Given the description of an element on the screen output the (x, y) to click on. 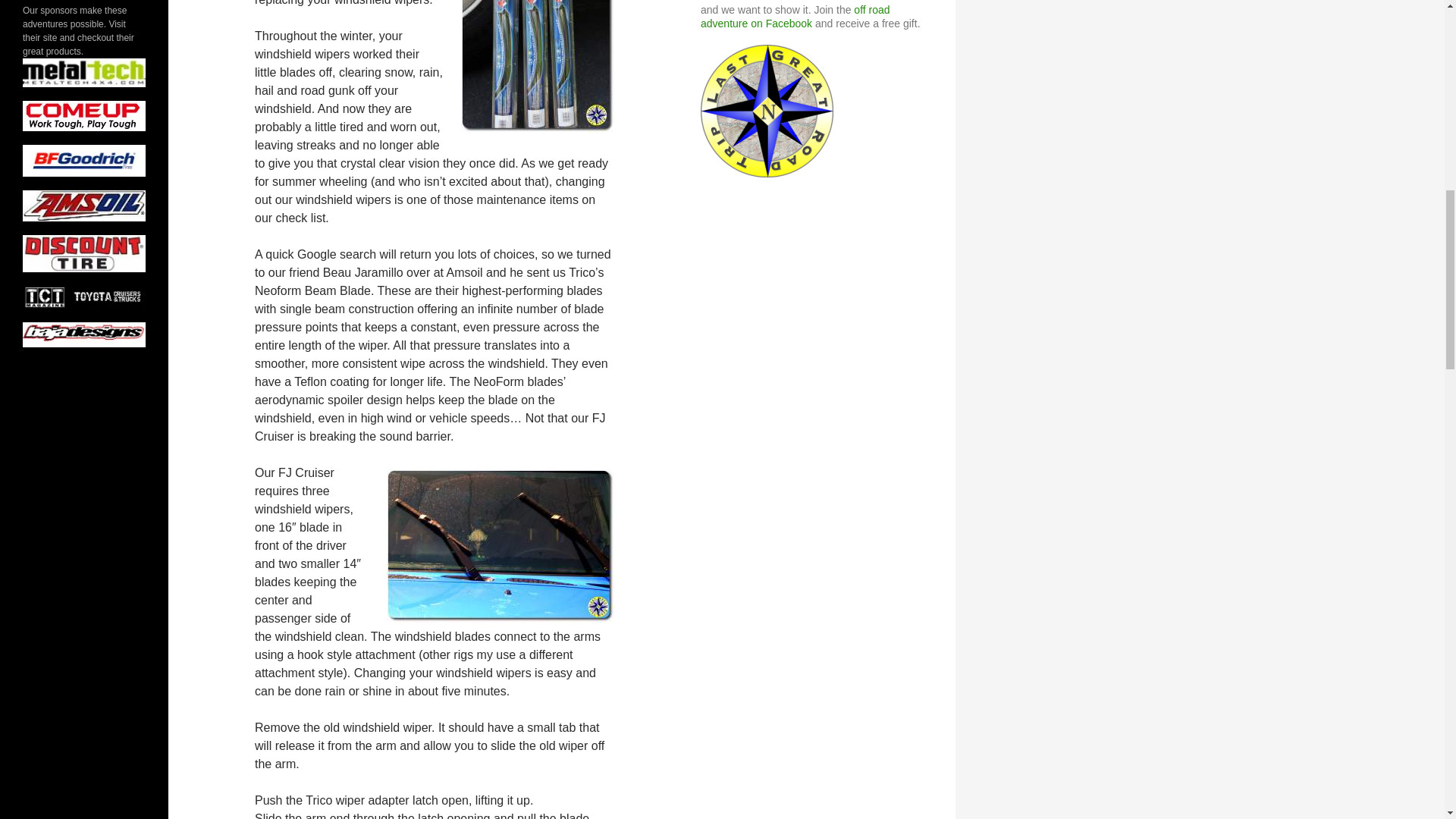
trico Wipers in action (500, 545)
last great road trip sponsor (84, 253)
last great road trip sponsor BFGoodrich (84, 160)
last great road trip sponsor comeup winch (84, 115)
last great road trip sponsor (84, 334)
LGRT decal (766, 110)
last great road trip sponsor (84, 296)
last great road trip sponsor (84, 205)
last great road trip sponsor (84, 72)
trico Neofoam wipers (537, 66)
